Given the description of an element on the screen output the (x, y) to click on. 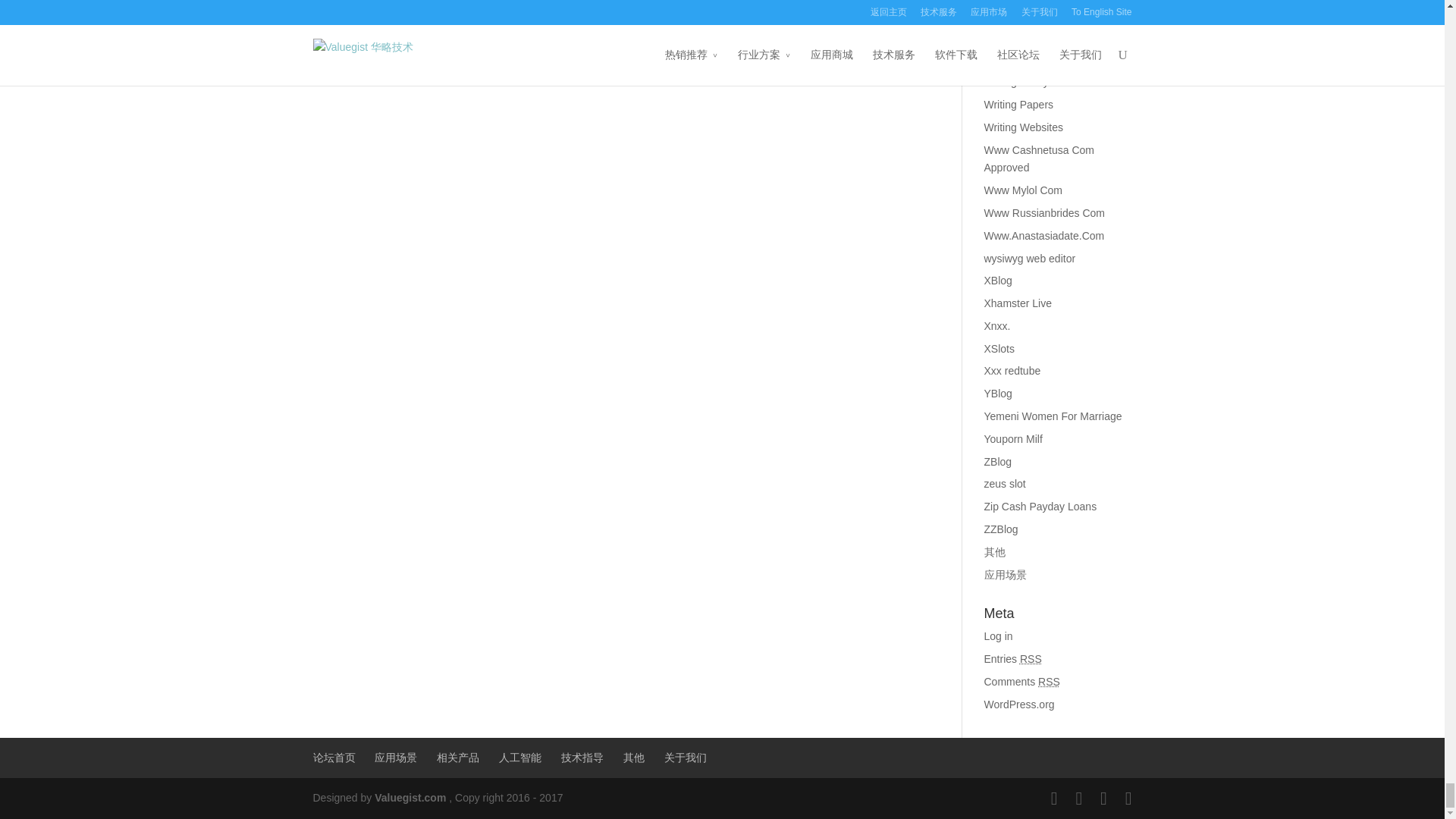
Really Simple Syndication (1031, 658)
Really Simple Syndication (1048, 681)
